Given the description of an element on the screen output the (x, y) to click on. 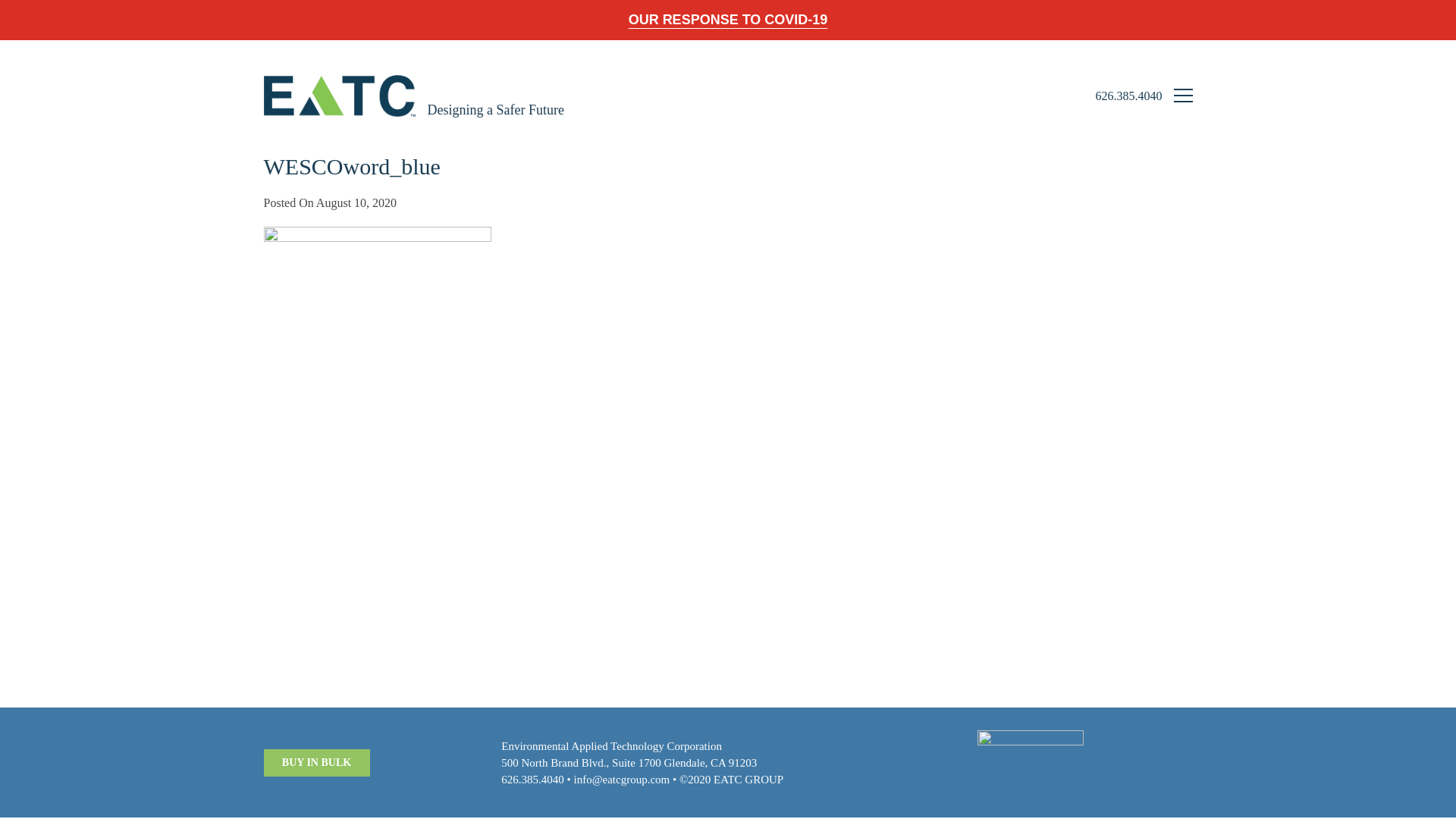
BUY IN BULK (316, 762)
OUR RESPONSE TO COVID-19 (728, 19)
626.385.4040 (532, 779)
626.385.4040 (1127, 95)
